Given the description of an element on the screen output the (x, y) to click on. 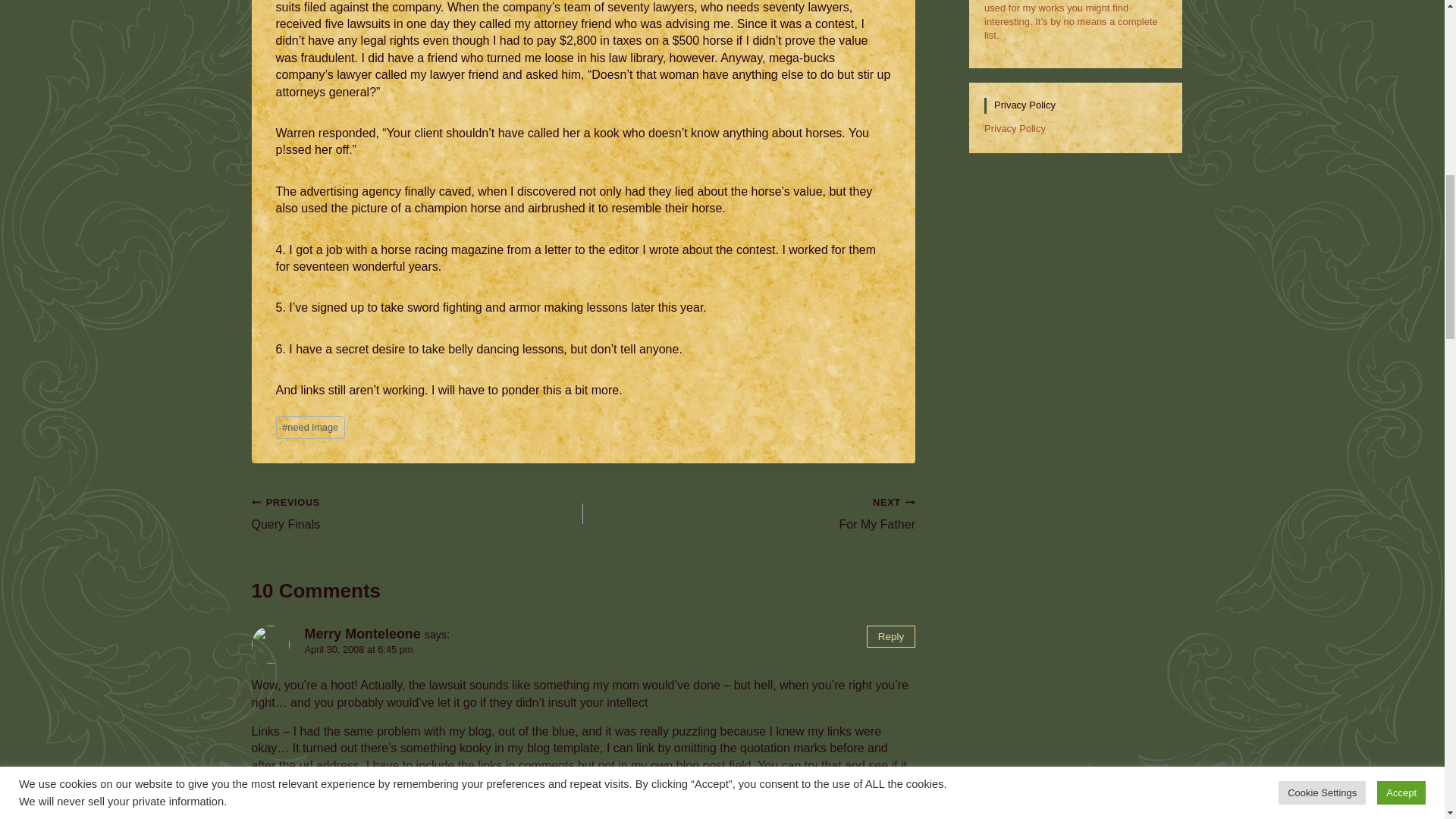
need image (310, 427)
Merry Monteleone (362, 633)
April 30, 2008 at 6:45 pm (358, 649)
Reply (890, 636)
